Given the description of an element on the screen output the (x, y) to click on. 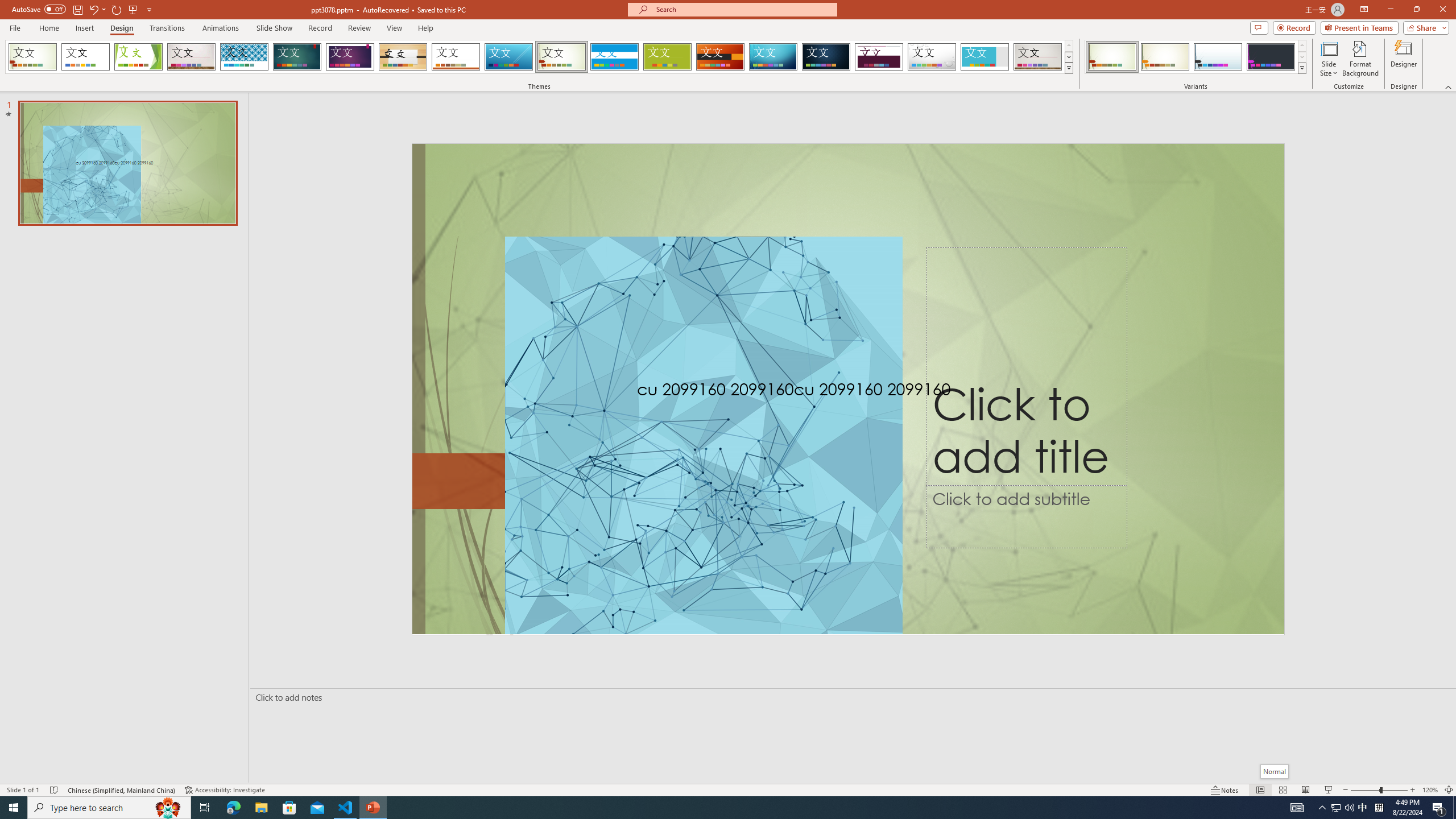
Ion Boardroom Loading Preview... (350, 56)
Basis Loading Preview... (667, 56)
Retrospect Loading Preview... (455, 56)
Variants (1301, 67)
Wisp Variant 2 (1164, 56)
Wisp Variant 3 (1217, 56)
